Given the description of an element on the screen output the (x, y) to click on. 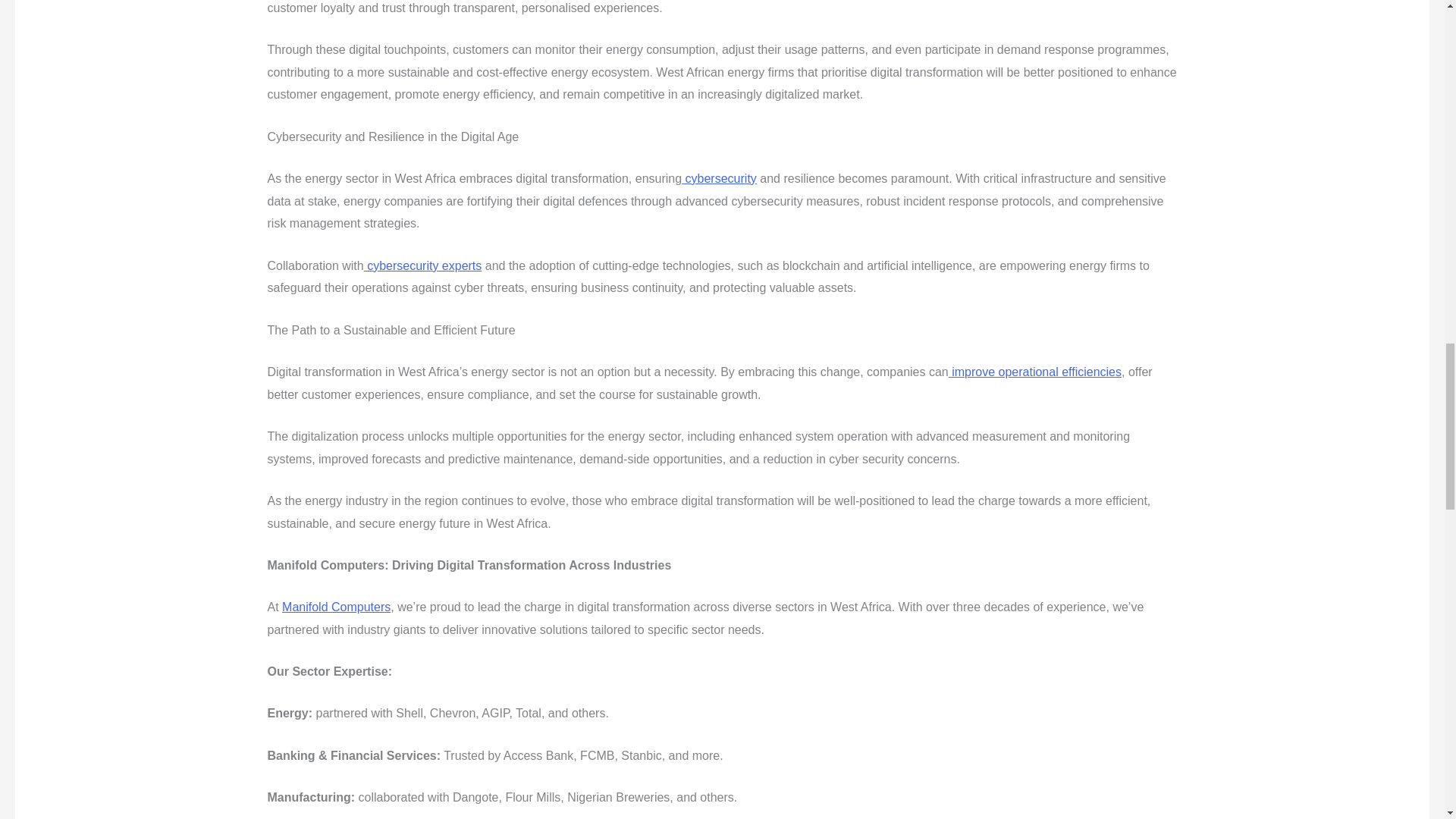
cybersecurity (719, 178)
Manifold Computers (336, 606)
cybersecurity experts (422, 265)
improve operational efficiencies (1035, 371)
